Given the description of an element on the screen output the (x, y) to click on. 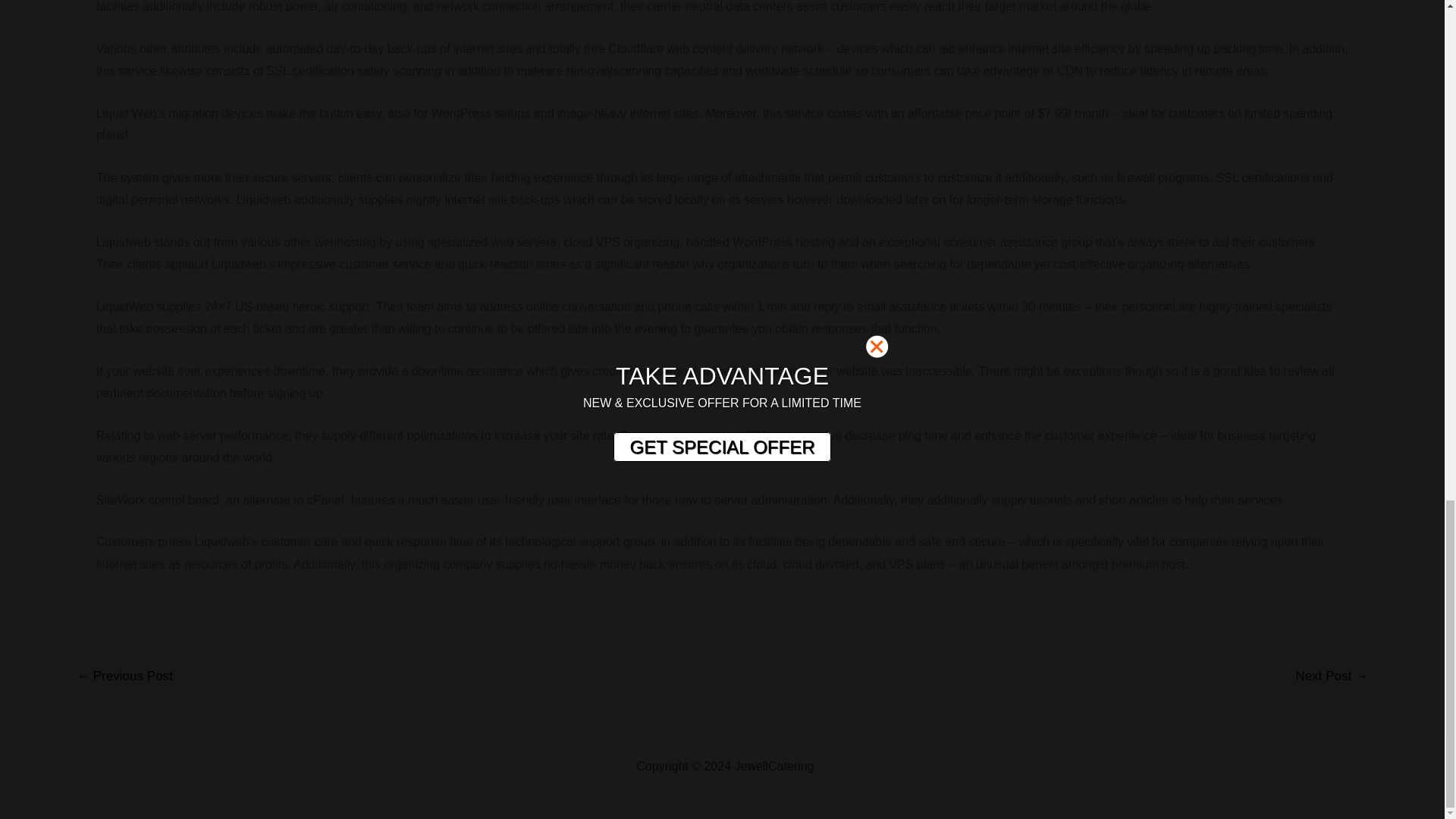
Sitemap (838, 766)
